Given the description of an element on the screen output the (x, y) to click on. 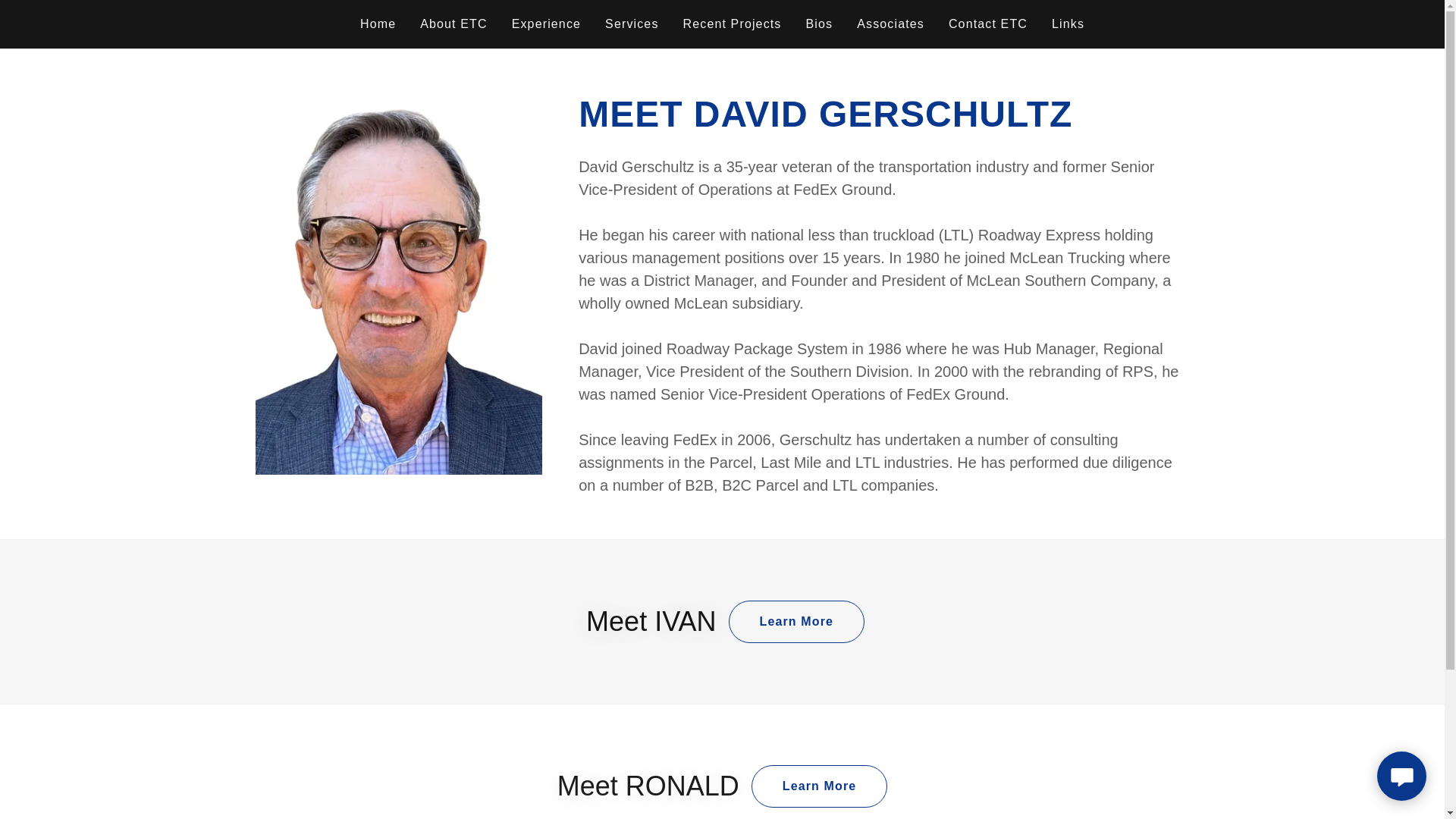
Learn More (819, 785)
Contact ETC (987, 23)
Associates (889, 23)
Experience (545, 23)
Bios (820, 23)
Home (377, 23)
About ETC (453, 23)
Learn More (796, 621)
Recent Projects (732, 23)
Links (1067, 23)
Services (630, 23)
